Given the description of an element on the screen output the (x, y) to click on. 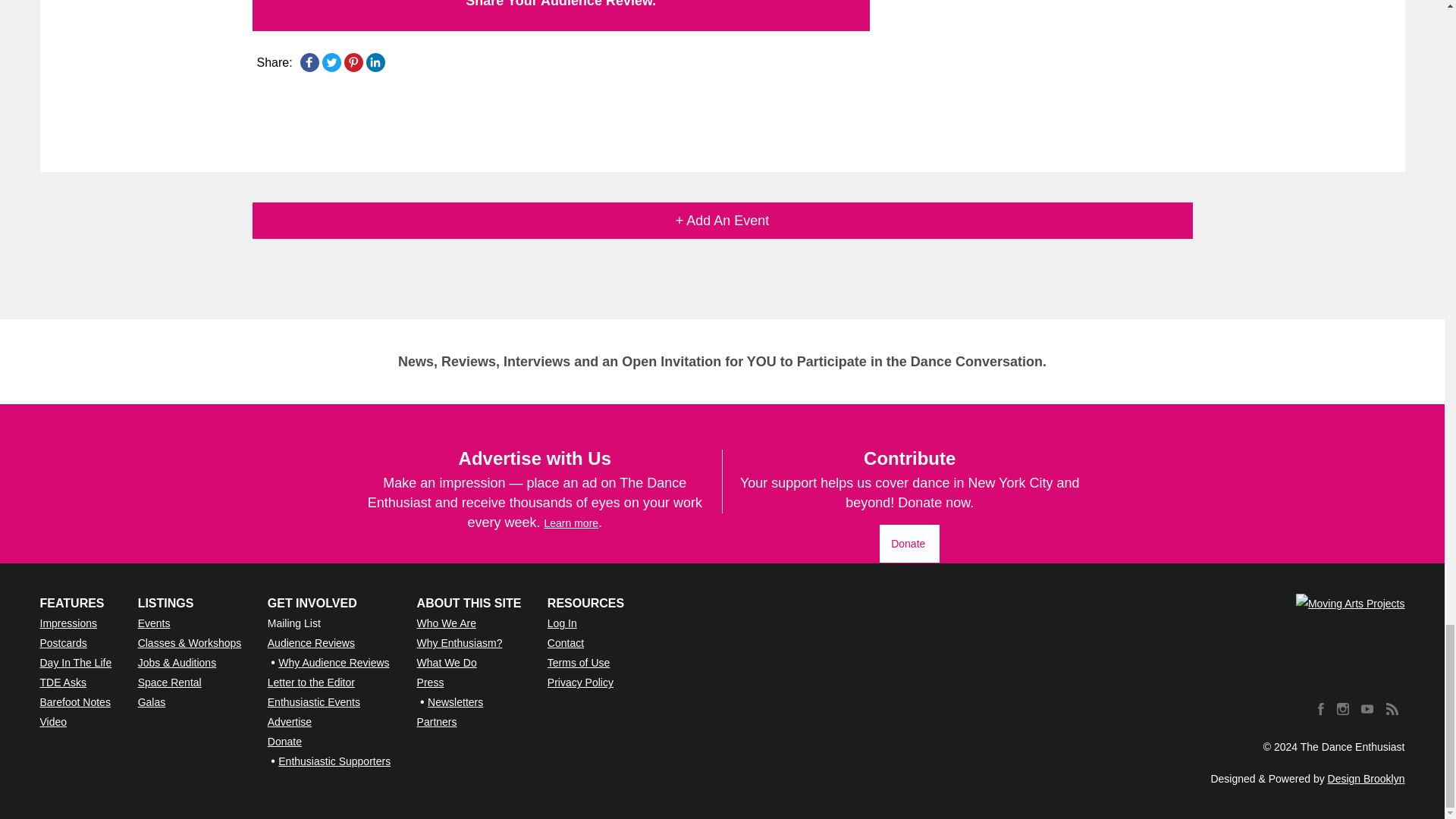
LinkedIn (375, 61)
Pinterest (353, 61)
Twitter (331, 61)
Facebook (309, 61)
